Given the description of an element on the screen output the (x, y) to click on. 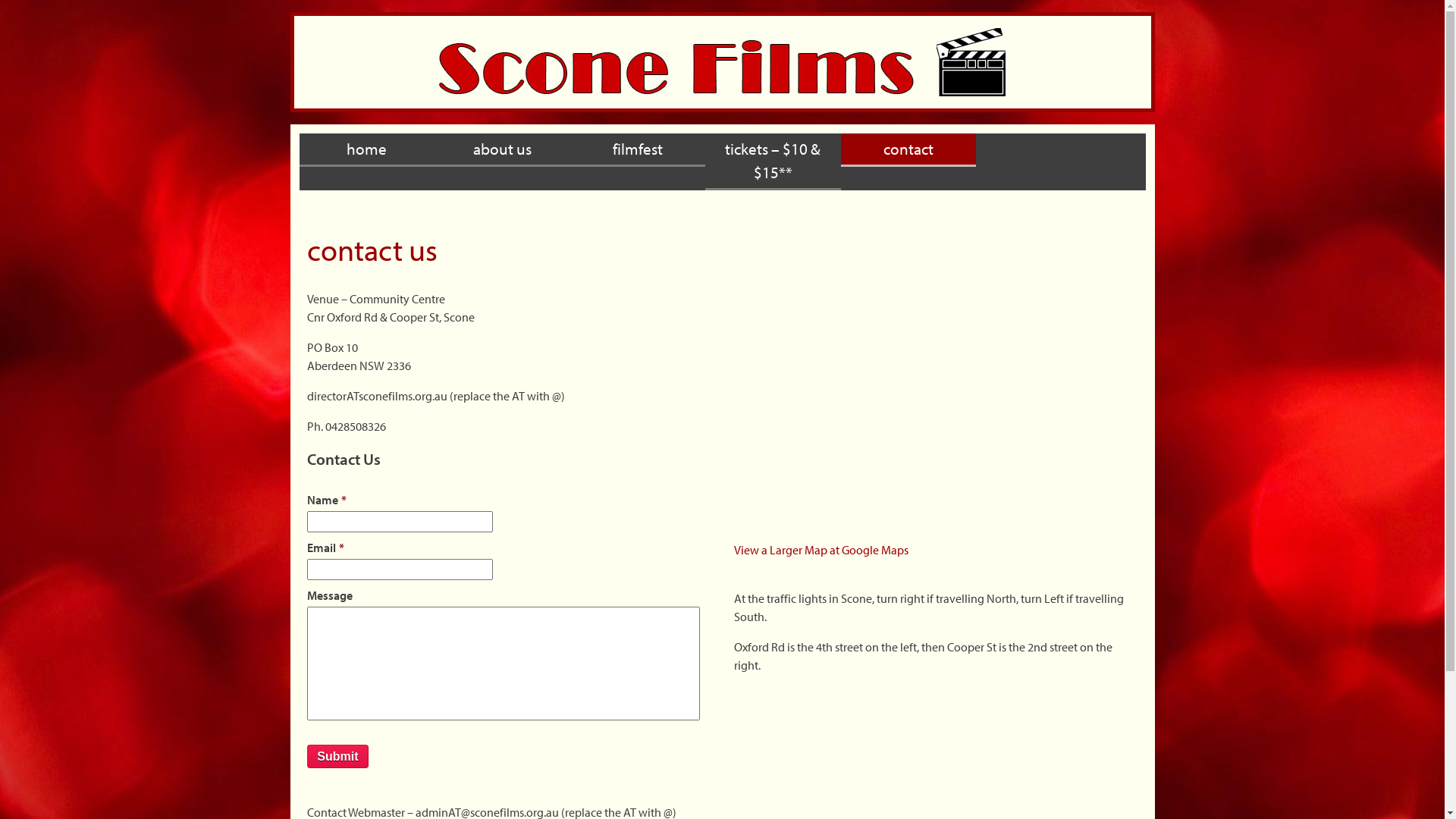
filmfest Element type: text (638, 149)
Submit Element type: text (337, 756)
home Element type: text (366, 149)
about us Element type: text (502, 149)
contact Element type: text (908, 149)
View a Larger Map at Google Maps Element type: text (821, 549)
